Given the description of an element on the screen output the (x, y) to click on. 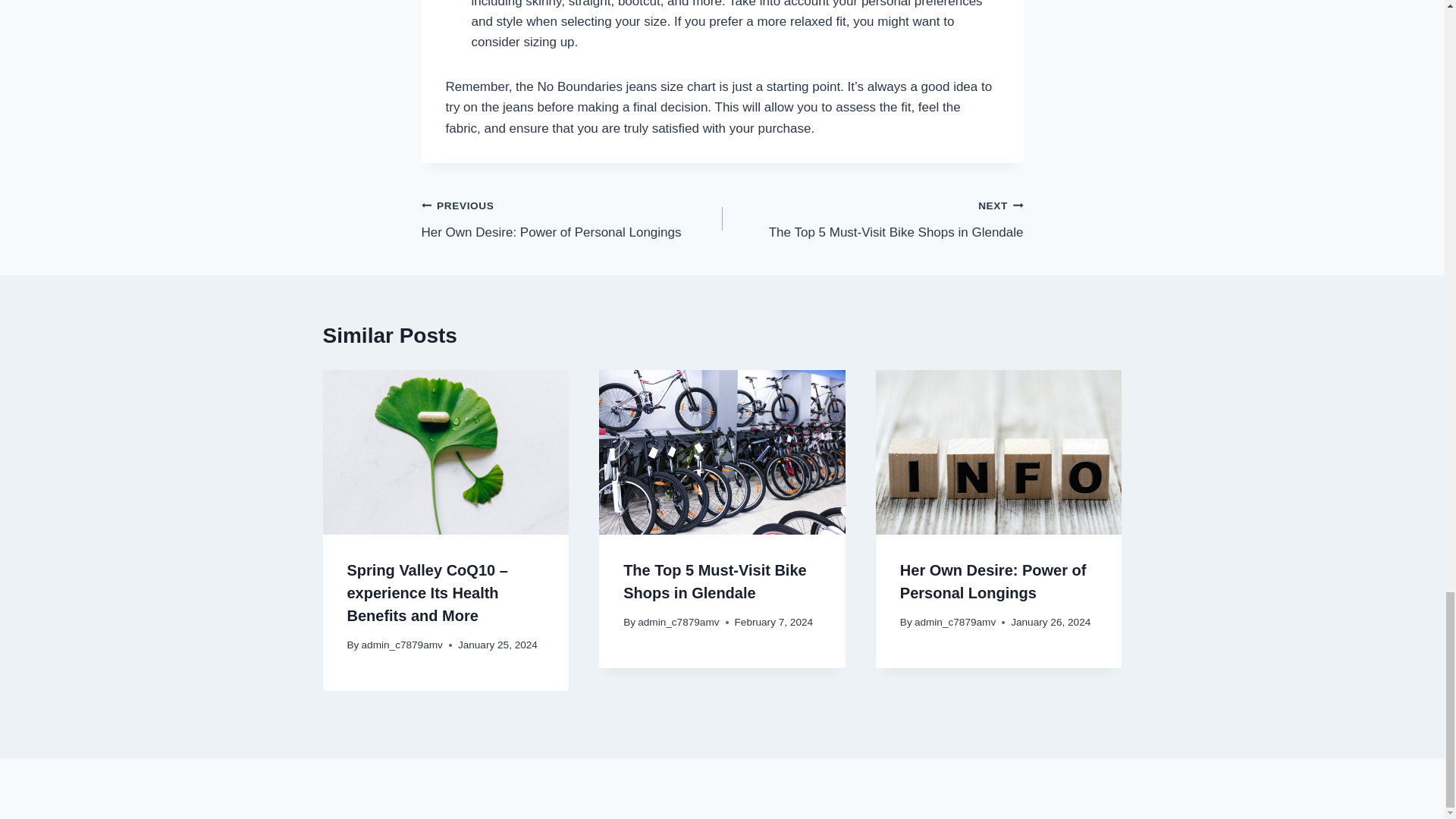
The Top 5 Must-Visit Bike Shops in Glendale (572, 218)
Her Own Desire: Power of Personal Longings (872, 218)
